Given the description of an element on the screen output the (x, y) to click on. 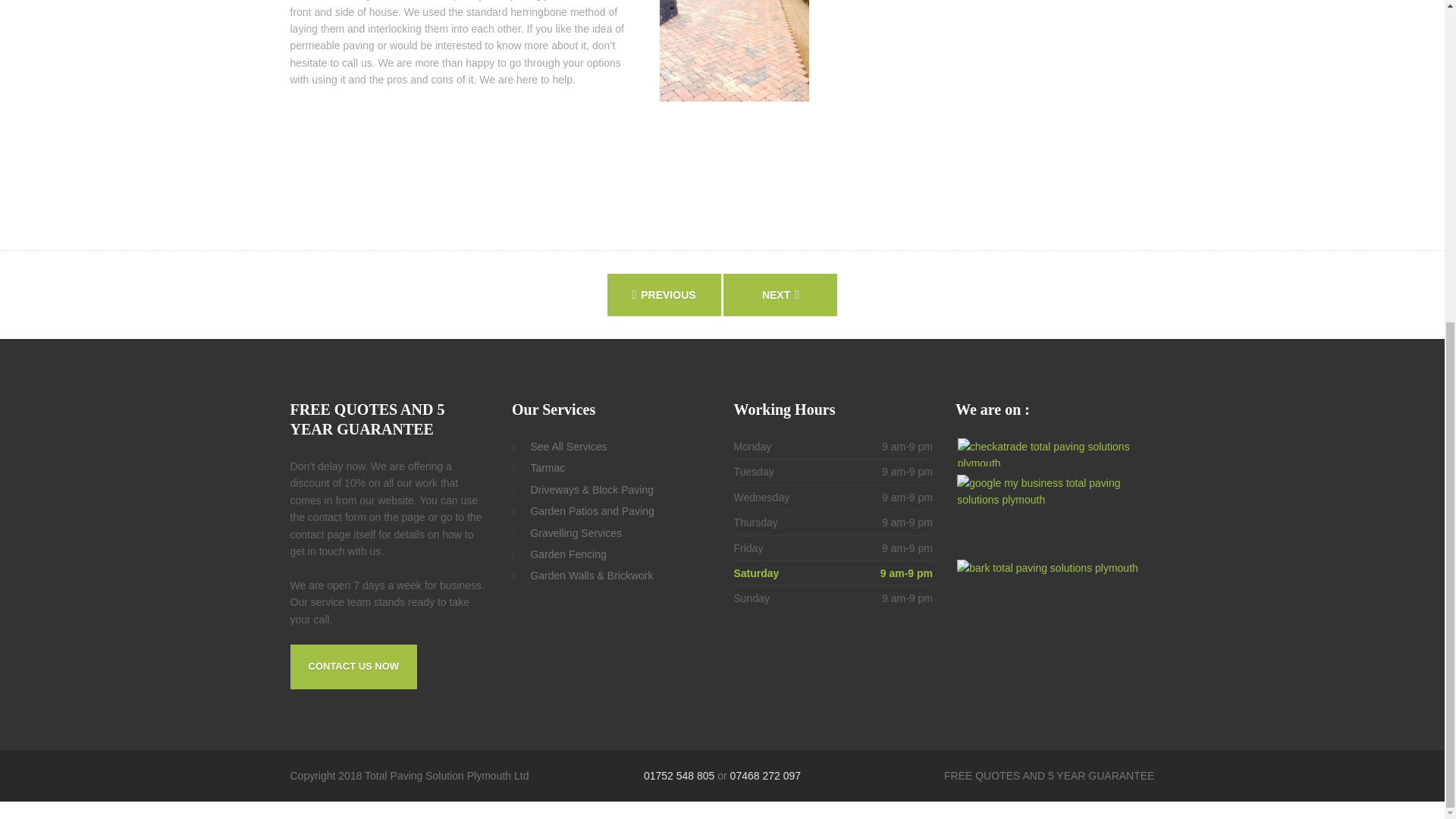
Google My Business Total Paving Solutions Plymouth (1054, 513)
bark total paving solutions plymouth (1054, 588)
Checkatrade Total Paving Solutions Plymouth (1055, 452)
